Given the description of an element on the screen output the (x, y) to click on. 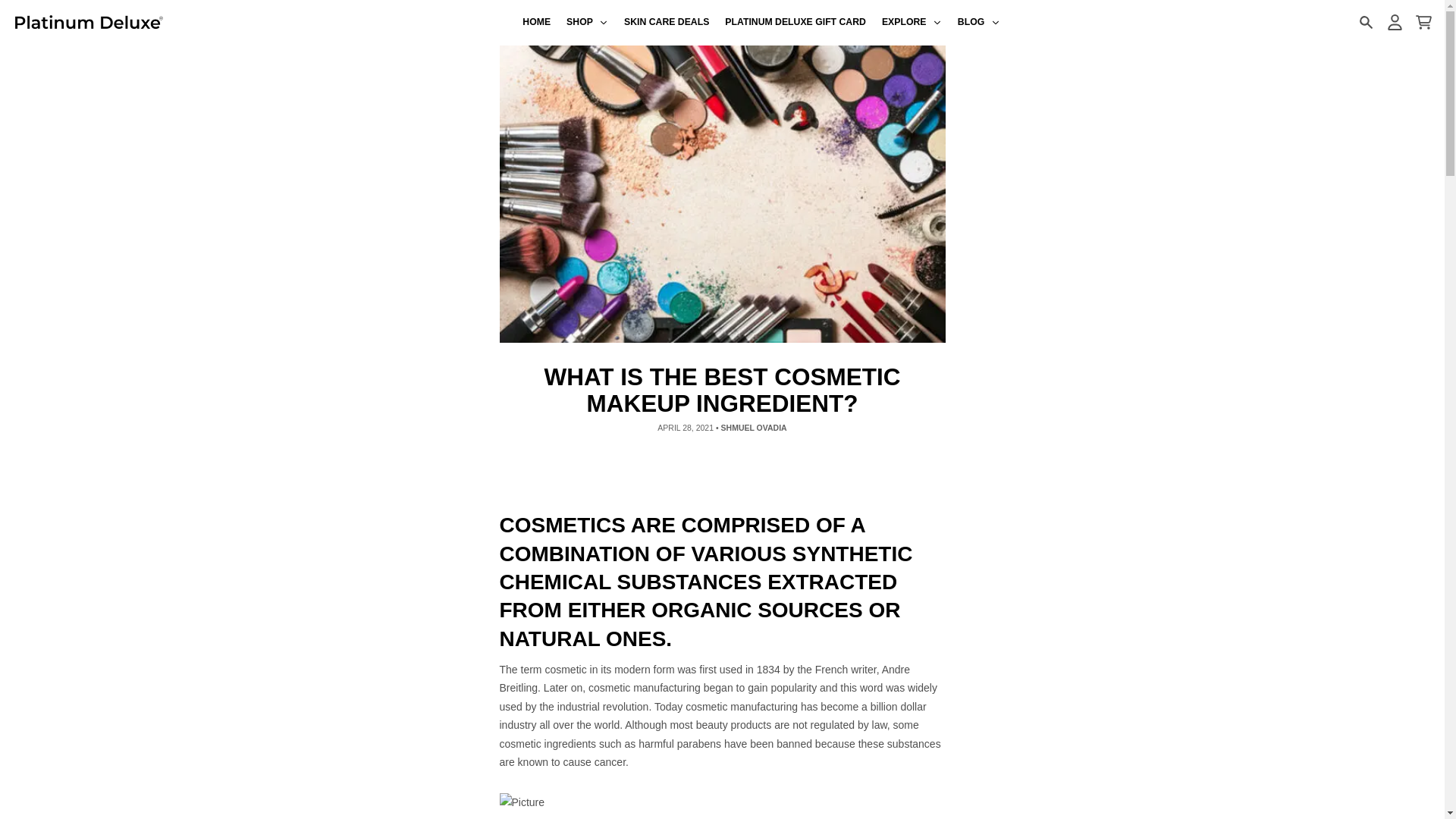
SKIN CARE DEALS (666, 22)
Cart (1423, 22)
HOME (537, 22)
PLATINUM DELUXE GIFT CARD (796, 22)
Account (1394, 22)
Search (1364, 22)
Skip to content (18, 7)
